Given the description of an element on the screen output the (x, y) to click on. 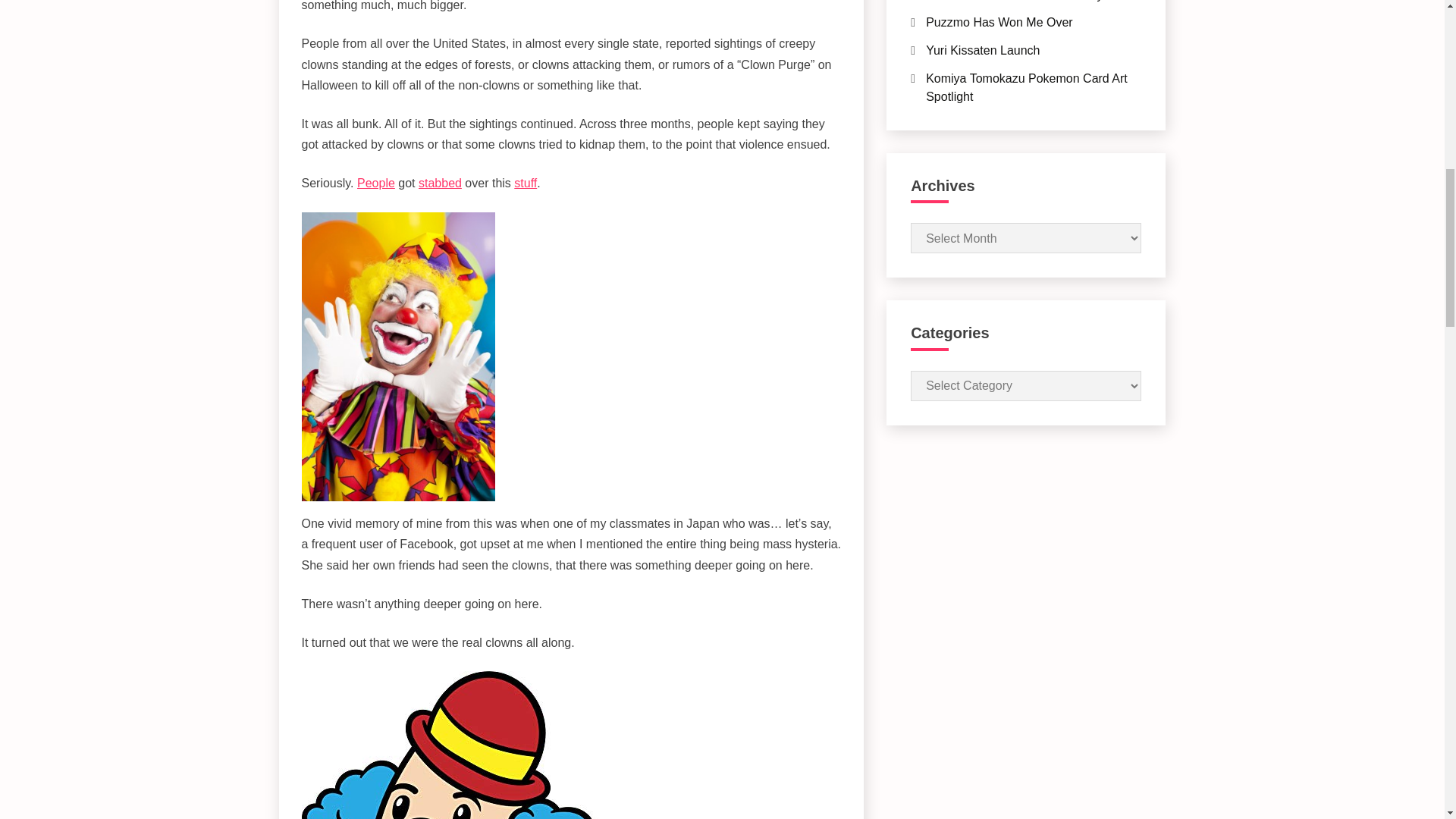
stabbed (440, 182)
People (375, 182)
stuff (525, 182)
